Given the description of an element on the screen output the (x, y) to click on. 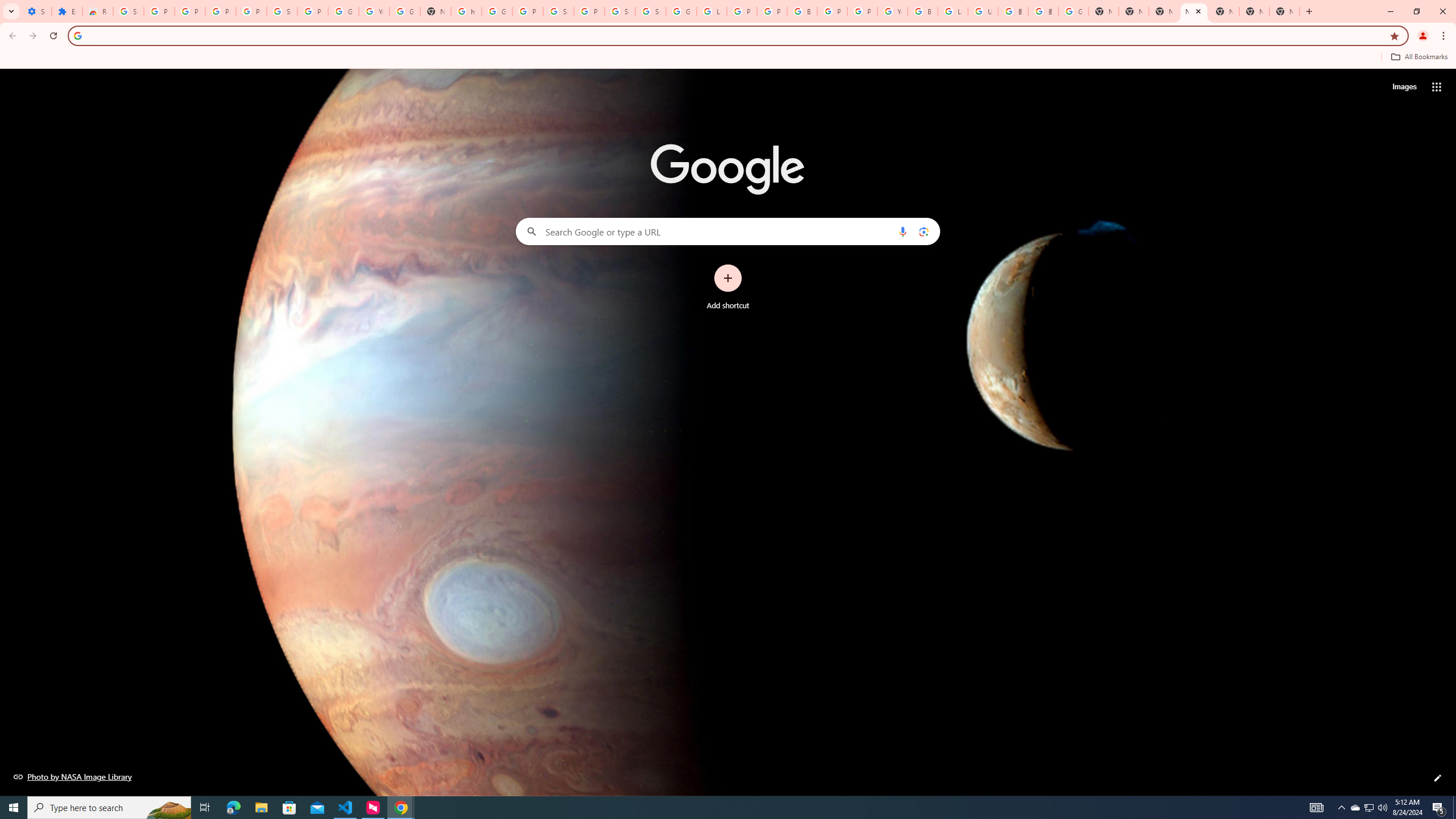
https://scholar.google.com/ (465, 11)
Sign in - Google Accounts (127, 11)
Extensions (66, 11)
Photo by NASA Image Library (72, 776)
